Given the description of an element on the screen output the (x, y) to click on. 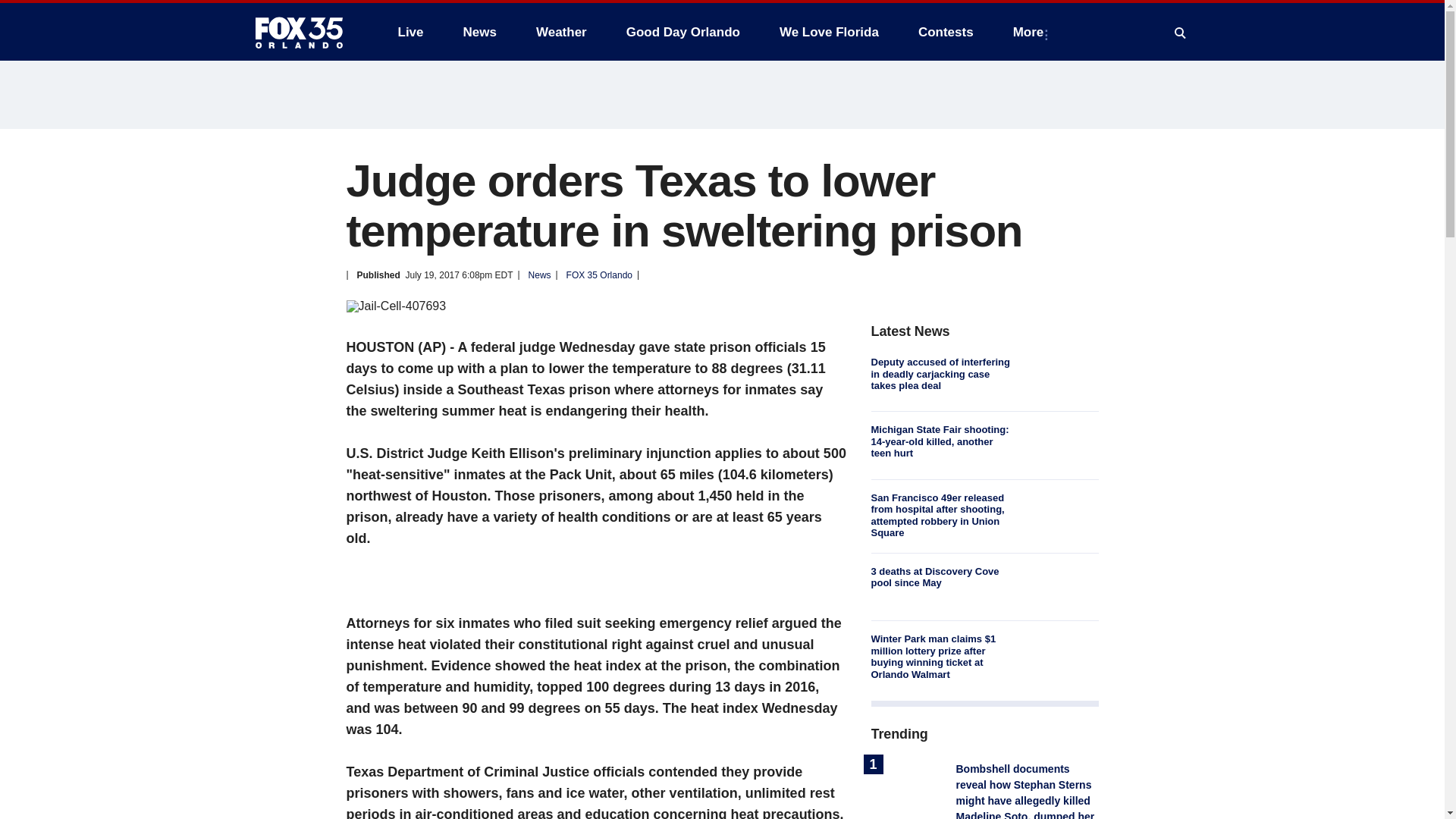
Live (410, 32)
More (1031, 32)
Good Day Orlando (683, 32)
We Love Florida (829, 32)
News (479, 32)
Weather (561, 32)
Contests (945, 32)
